Given the description of an element on the screen output the (x, y) to click on. 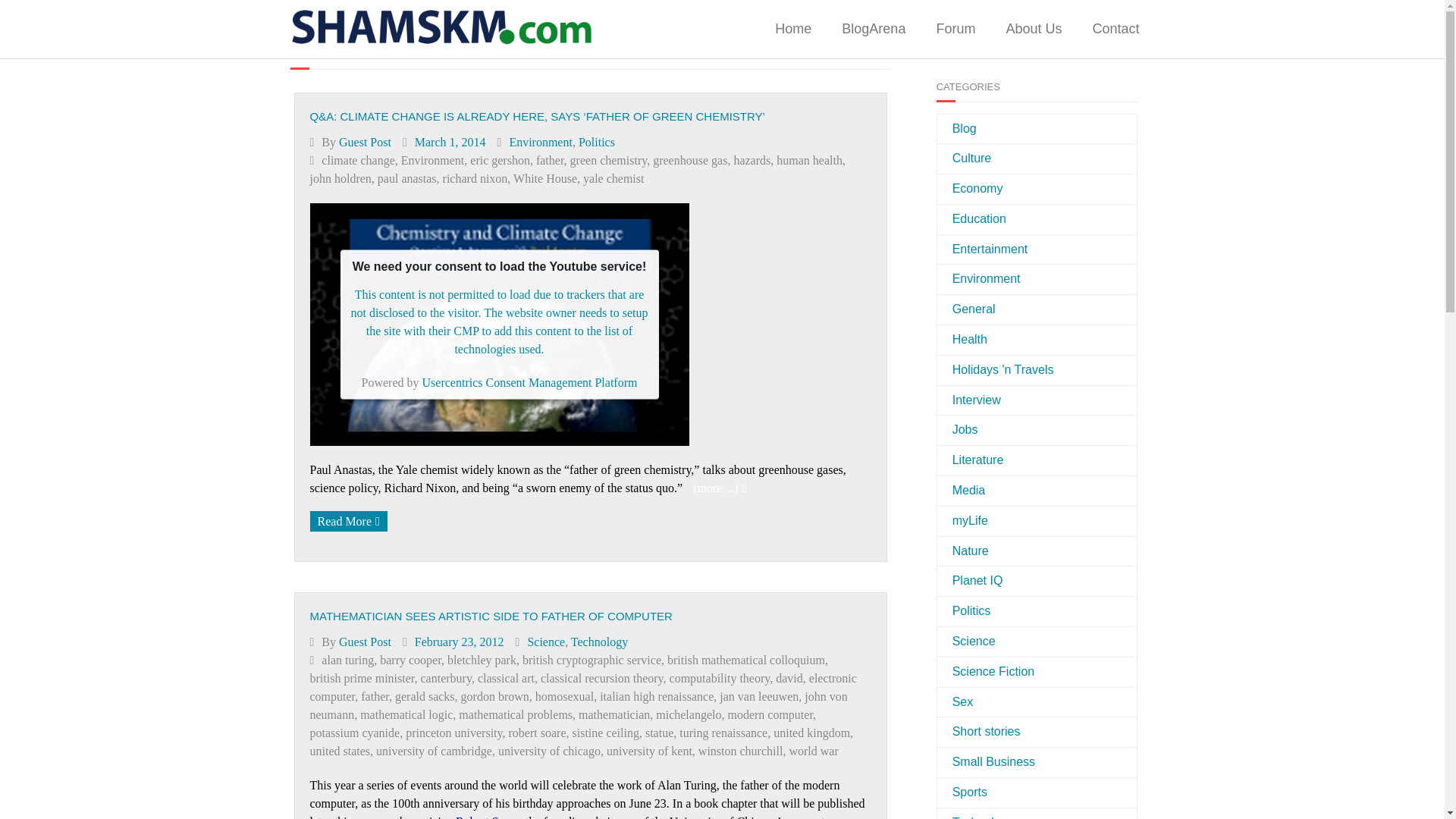
Category for short stories (978, 731)
Read More (347, 521)
Guest Post (365, 141)
yale chemist (613, 178)
human health (809, 160)
literature (970, 460)
Science fiction blog, stories, fantasies etc. (986, 672)
Science (545, 641)
View all posts by Guest Post (365, 641)
Contact (1115, 29)
eric gershon (499, 160)
View all posts by Guest Post (365, 141)
February 23, 2012 (458, 641)
paul anastas (406, 178)
